Given the description of an element on the screen output the (x, y) to click on. 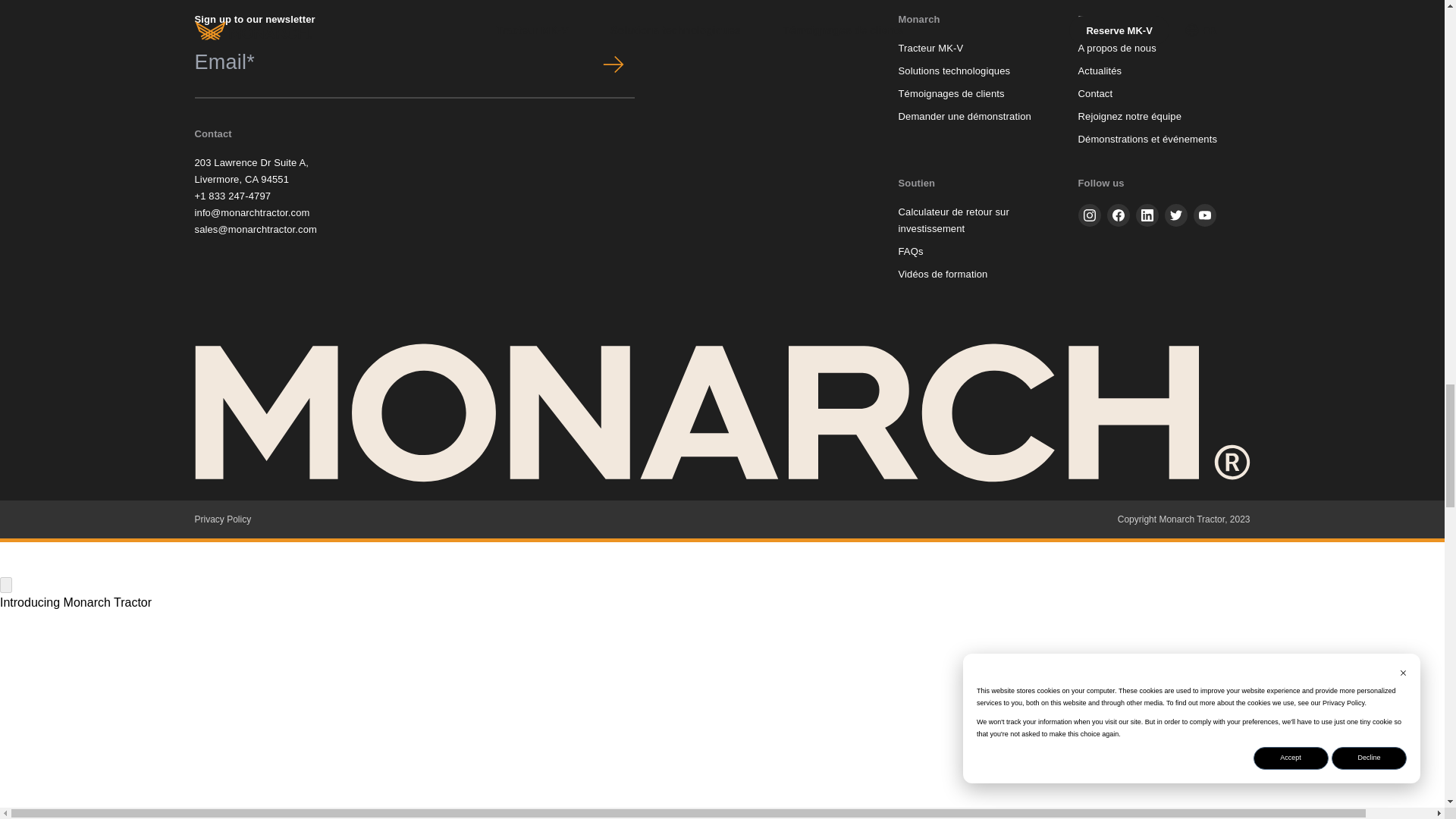
Send (613, 64)
